Given the description of an element on the screen output the (x, y) to click on. 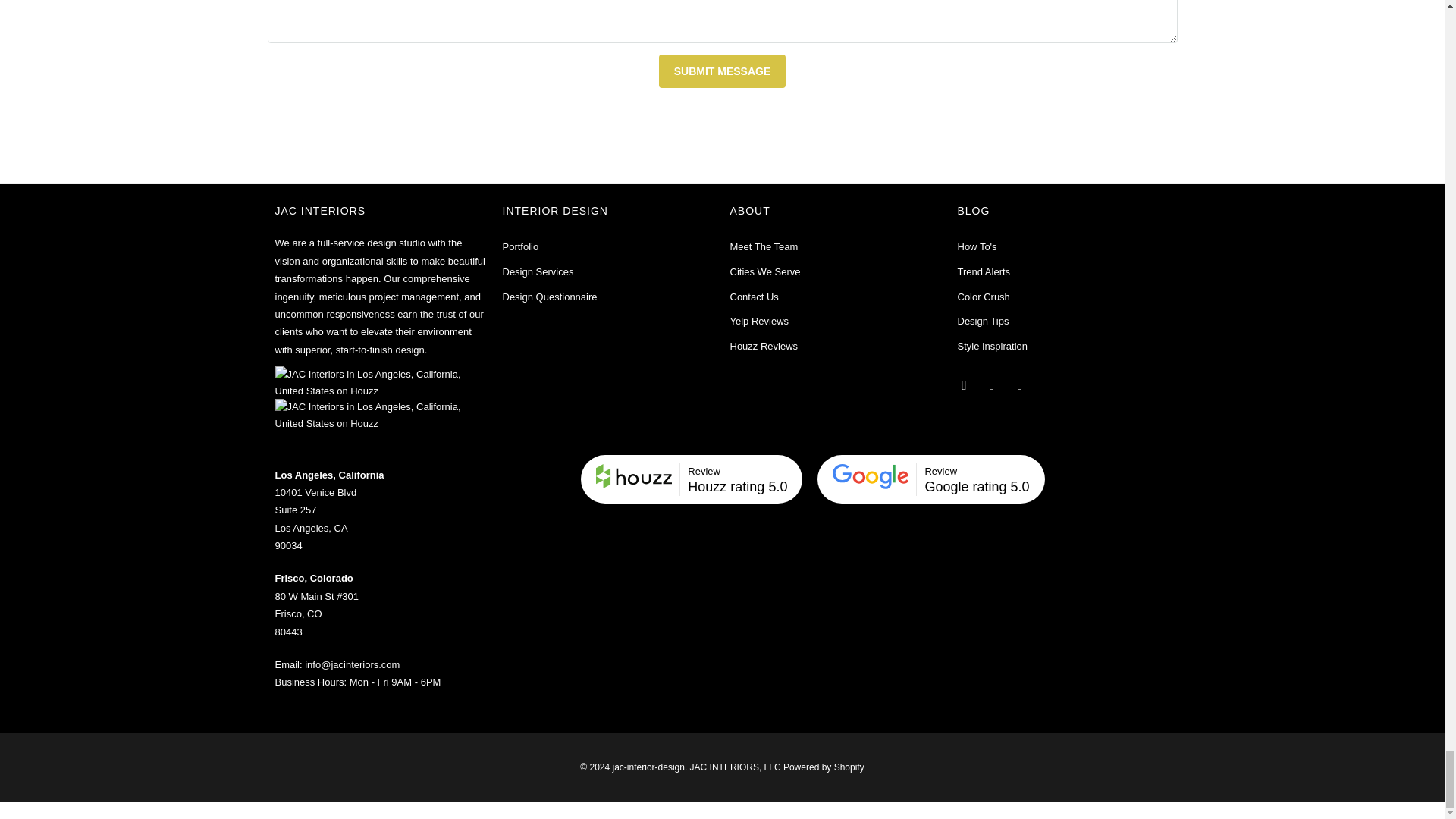
Houzz (703, 471)
Submit (722, 70)
jac-interior-design on Facebook (965, 384)
jac-interior-design on Instagram (993, 384)
Google (870, 479)
Houzz (633, 478)
Google (940, 471)
jac-interior-design on Houzz (1021, 384)
